Given the description of an element on the screen output the (x, y) to click on. 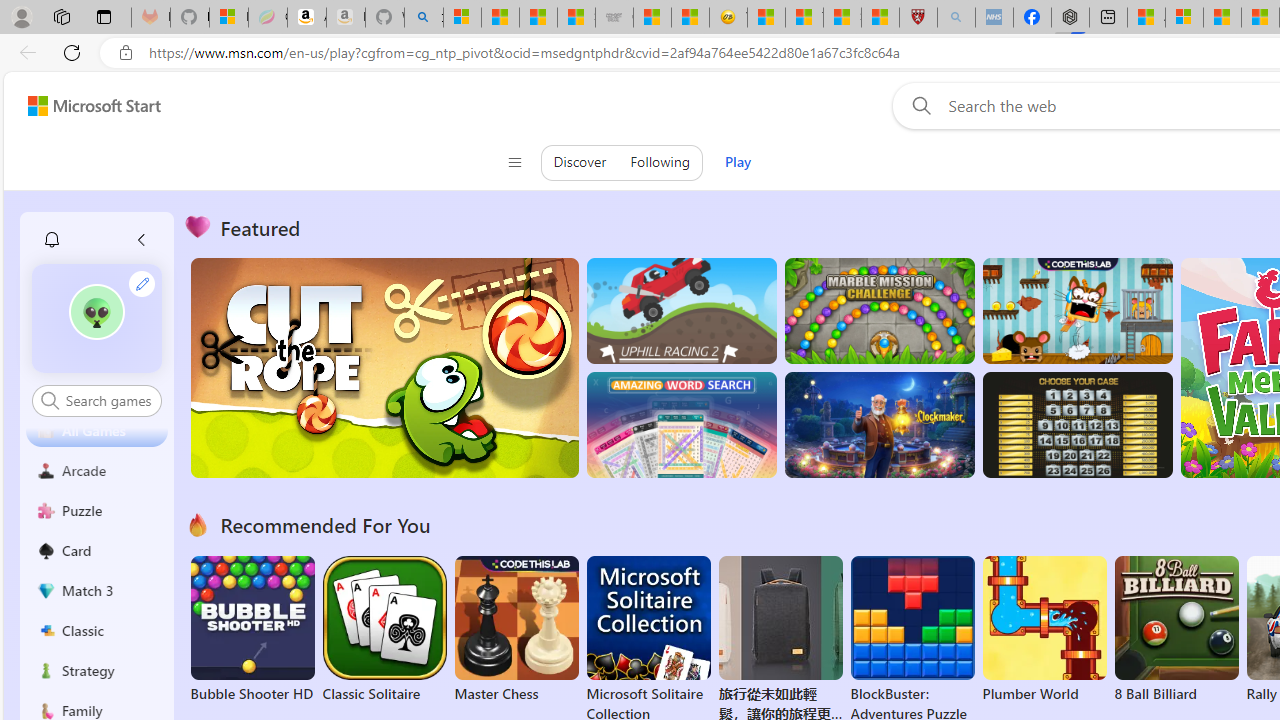
12 Popular Science Lies that Must be Corrected (879, 17)
Skip to content (86, 105)
Plumber World (1044, 629)
Class: control icon-only (514, 162)
Recipes - MSN (765, 17)
Class: notification-item (51, 239)
Robert H. Shmerling, MD - Harvard Health (917, 17)
